Given the description of an element on the screen output the (x, y) to click on. 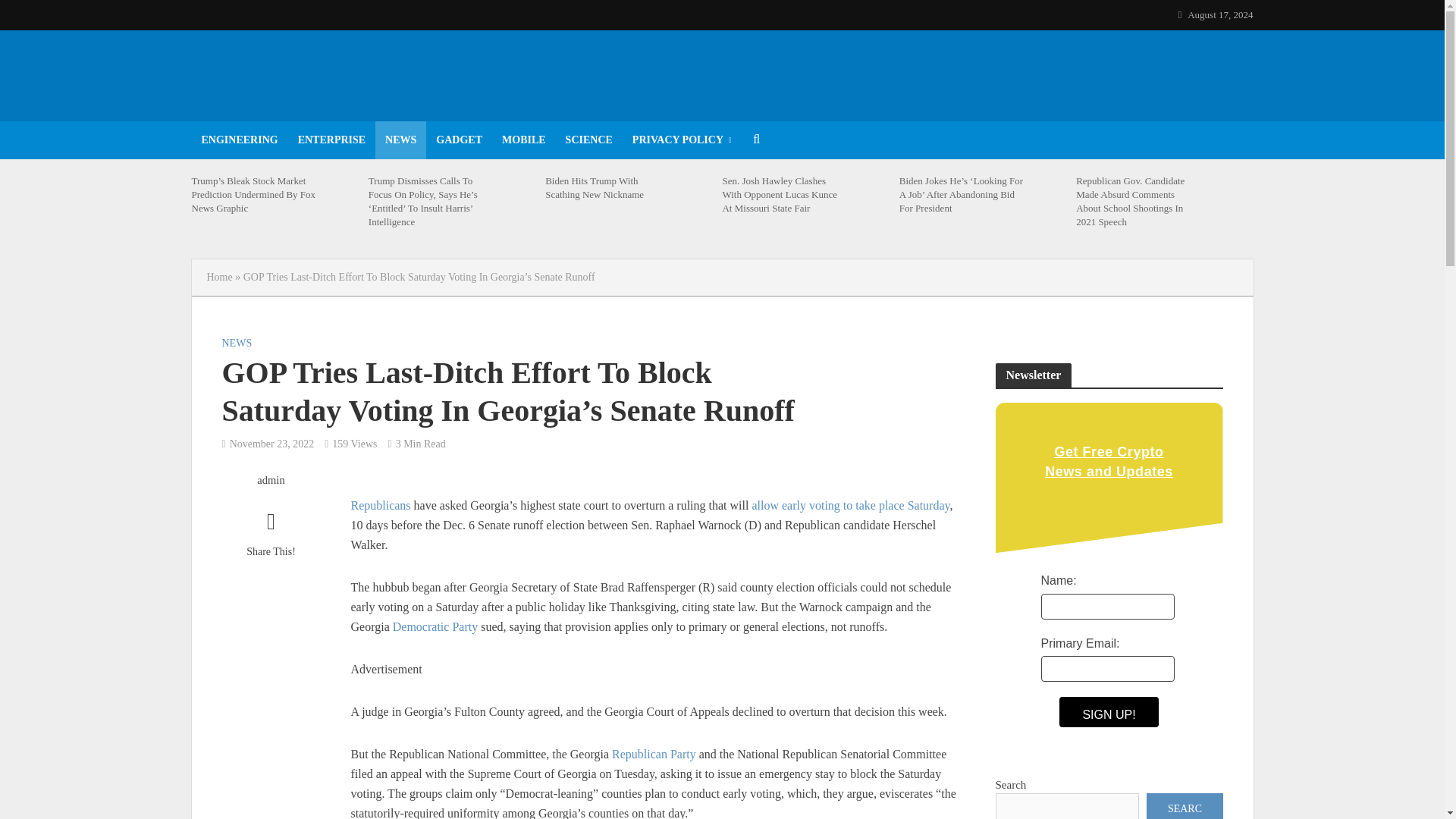
SCIENCE (589, 139)
PRIVACY POLICY (682, 139)
GADGET (459, 139)
NEWS (236, 344)
NEWS (400, 139)
ENTERPRISE (331, 139)
SIGN UP! (1108, 711)
ENGINEERING (238, 139)
